Given the description of an element on the screen output the (x, y) to click on. 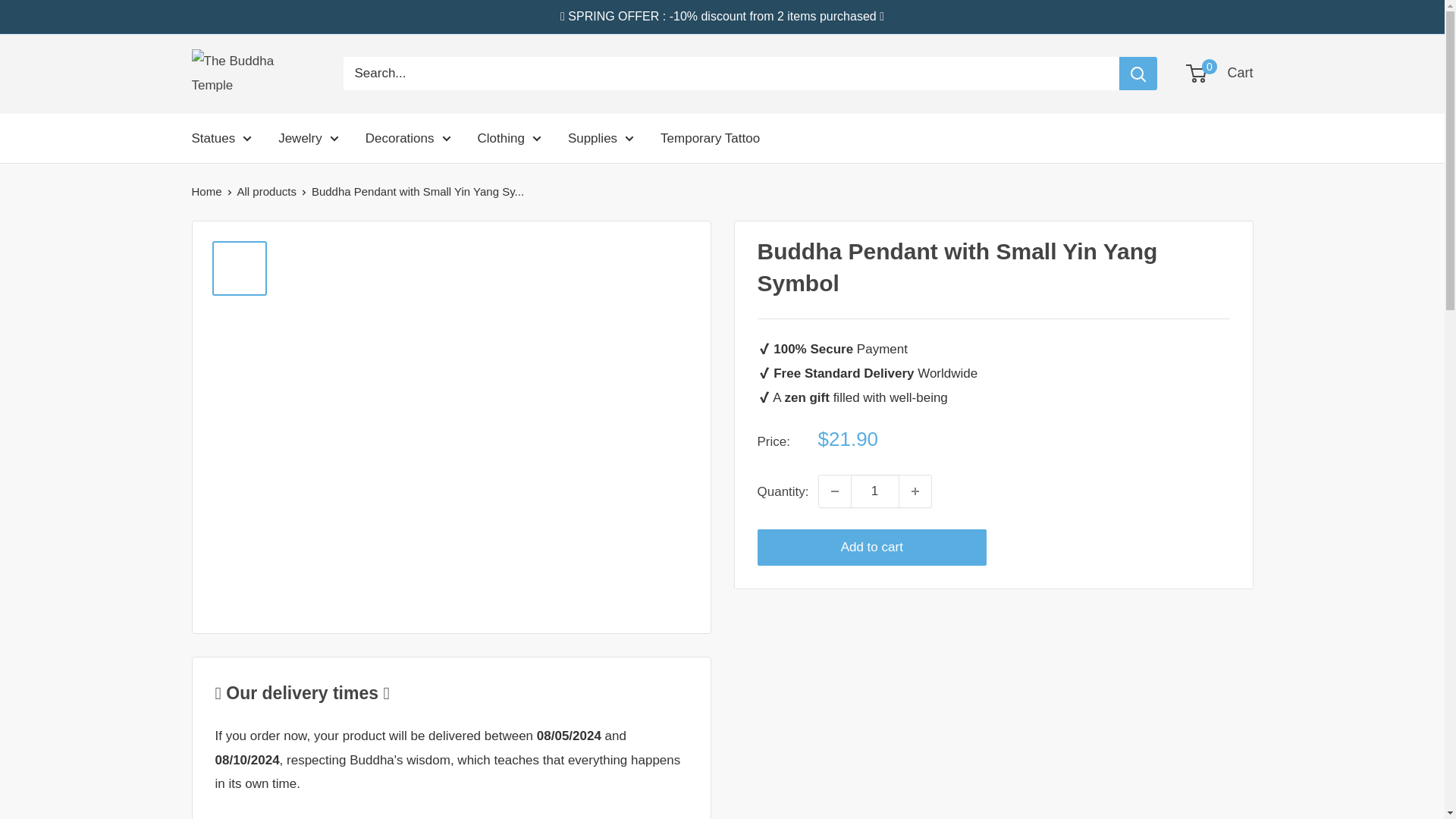
1 (874, 490)
Decrease quantity by 1 (834, 490)
Increase quantity by 1 (915, 490)
